Given the description of an element on the screen output the (x, y) to click on. 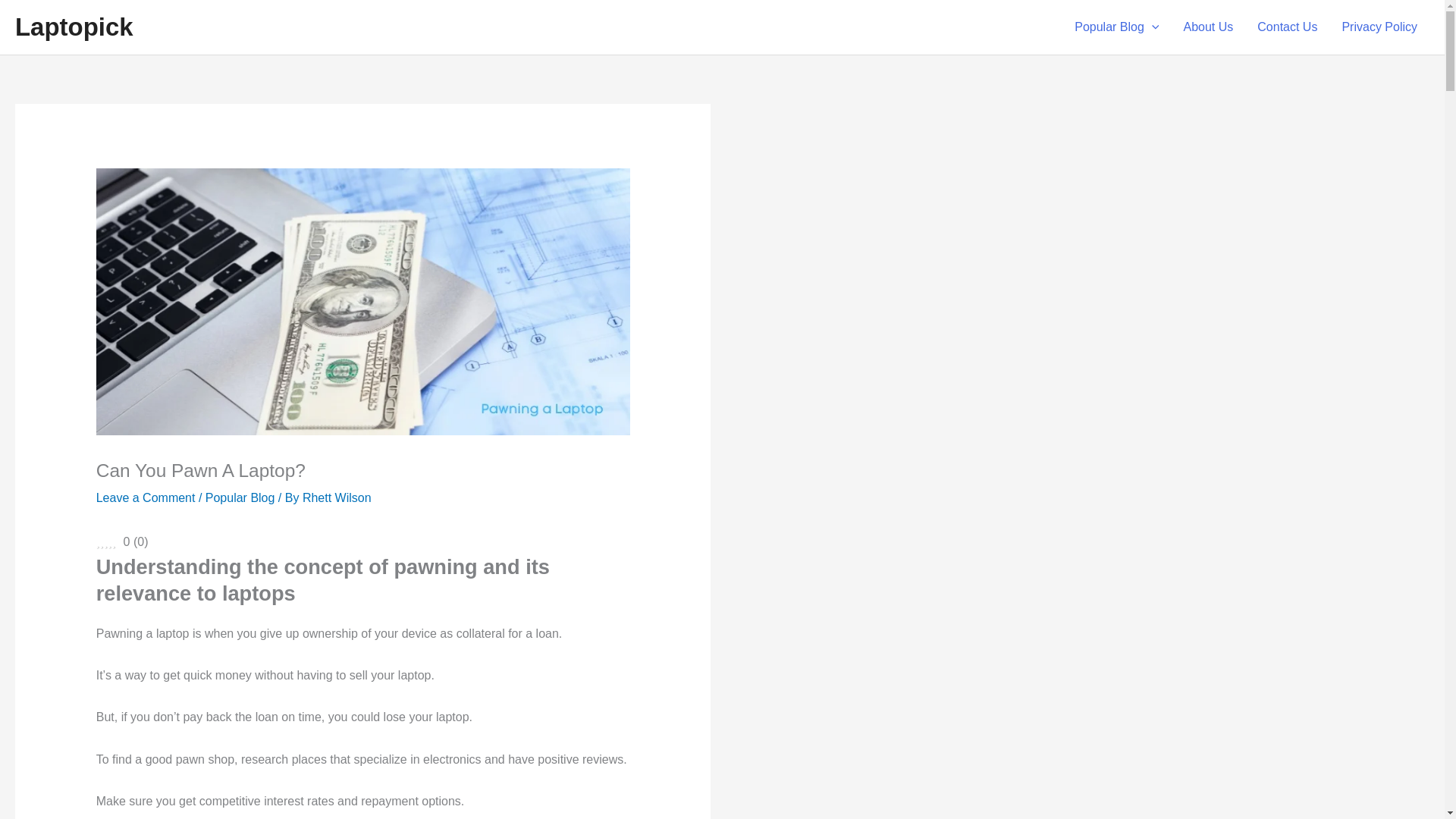
Laptopick (73, 26)
Leave a Comment (145, 497)
Privacy Policy (1379, 27)
View all posts by Rhett Wilson (336, 497)
Contact Us (1286, 27)
Rhett Wilson (336, 497)
About Us (1207, 27)
Popular Blog (1116, 27)
Popular Blog (240, 497)
